Given the description of an element on the screen output the (x, y) to click on. 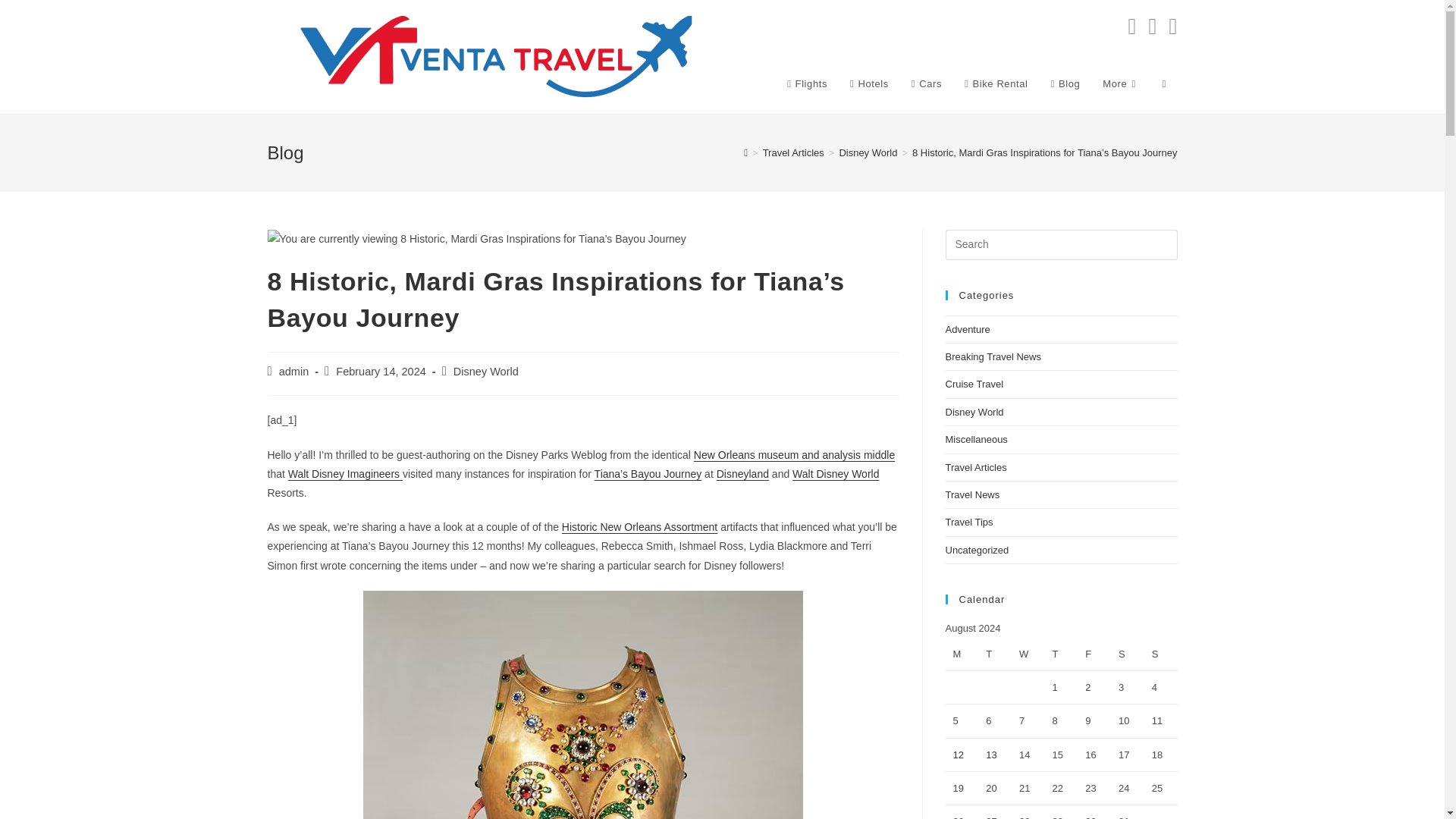
Bike Rental (996, 84)
Posts by admin (293, 371)
Saturday (1127, 653)
Blog (1065, 84)
admin (293, 371)
Tuesday (994, 653)
Friday (1093, 653)
Travel Articles (793, 152)
Monday (961, 653)
Disney World (867, 152)
